Given the description of an element on the screen output the (x, y) to click on. 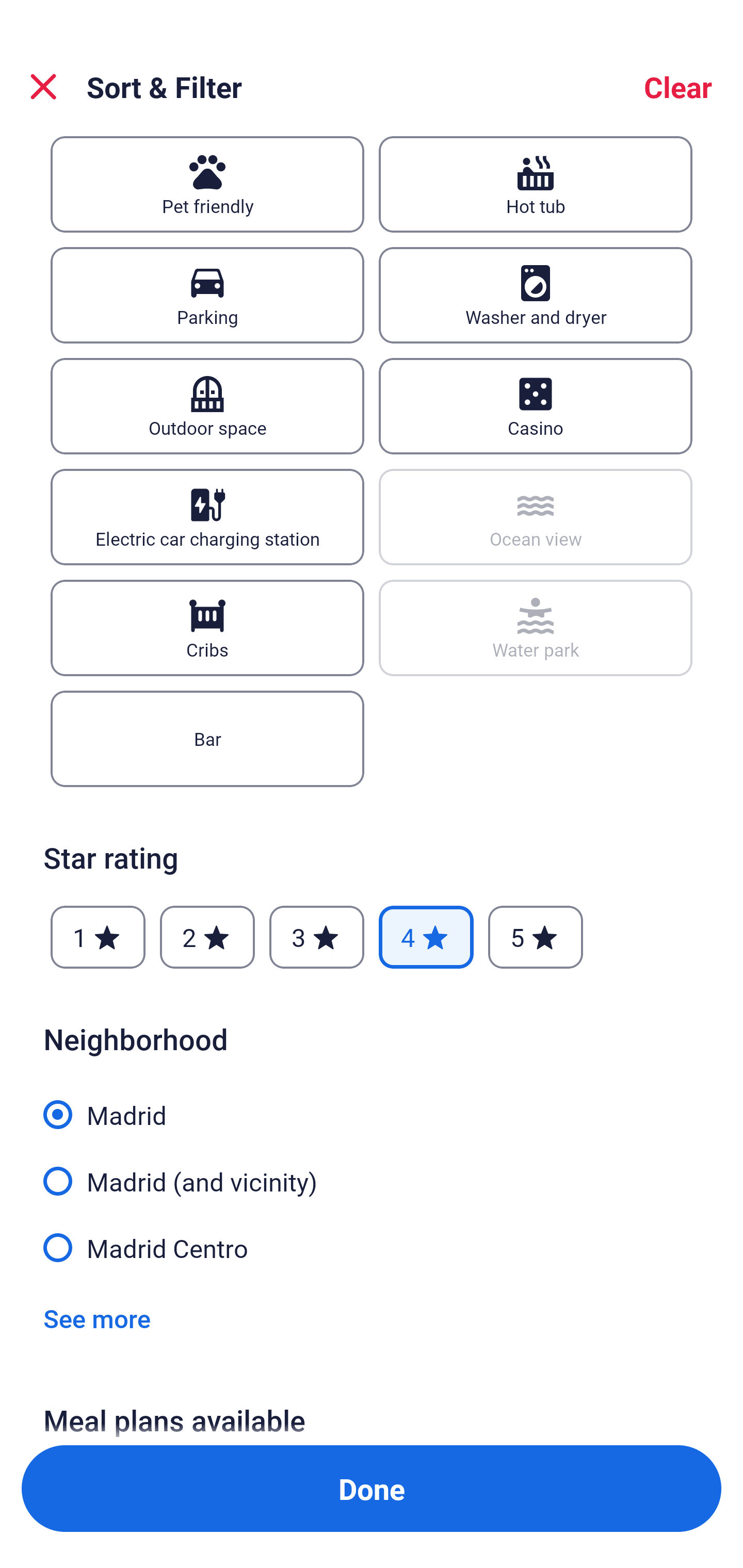
Close Sort and Filter (43, 86)
Clear (677, 86)
Pet friendly (207, 184)
Hot tub (535, 184)
Parking (207, 295)
Washer and dryer (535, 295)
Outdoor space (207, 405)
Casino (535, 405)
Electric car charging station (207, 517)
Ocean view (535, 517)
Cribs (207, 627)
Water park (535, 627)
Bar (207, 738)
1 (97, 936)
2 (206, 936)
3 (316, 936)
4 (426, 936)
5 (535, 936)
Madrid (and vicinity) (371, 1169)
Madrid Centro (371, 1246)
See more See more neighborhoods Link (96, 1317)
Apply and close Sort and Filter Done (371, 1488)
